Given the description of an element on the screen output the (x, y) to click on. 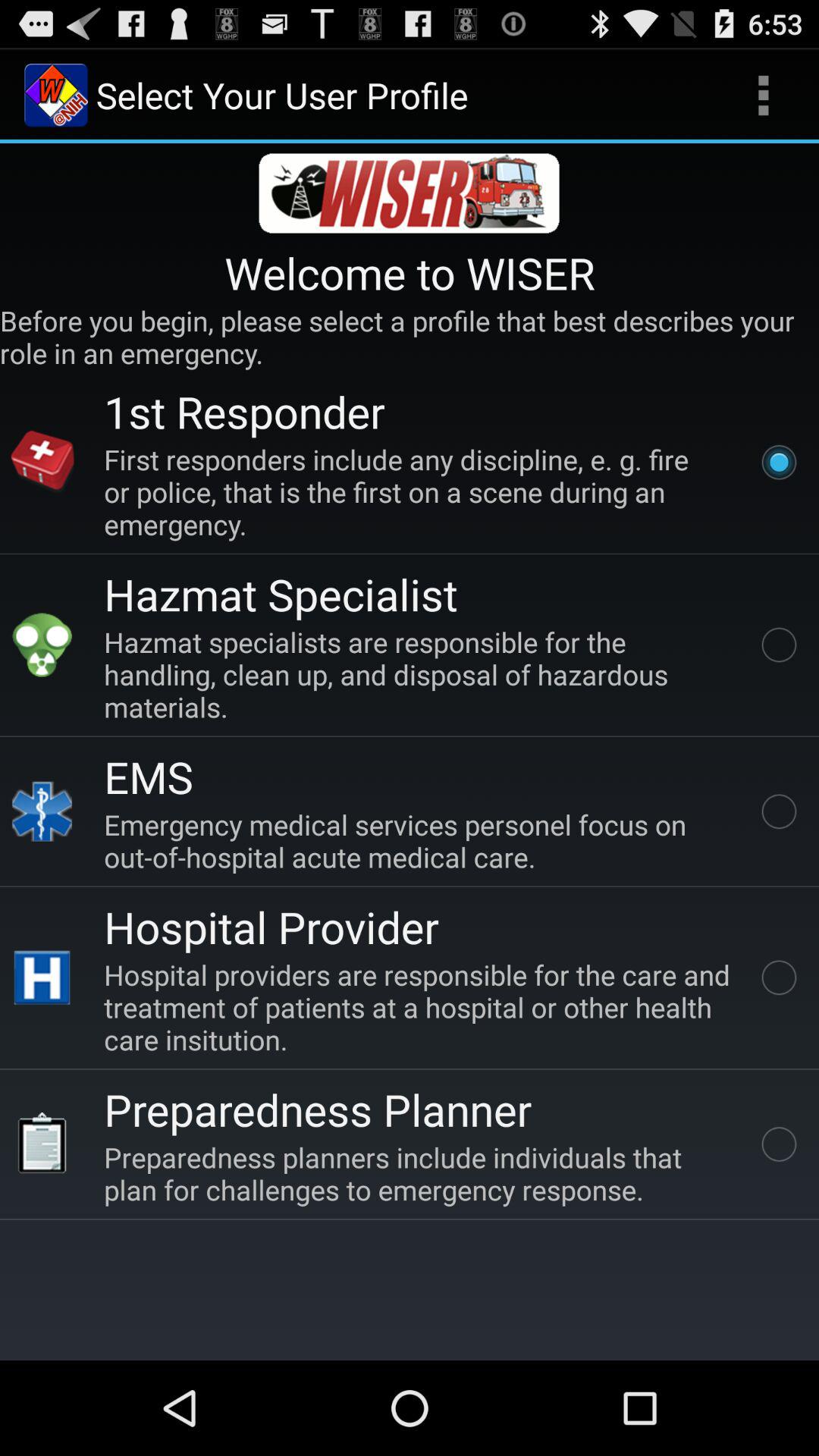
swipe until first responders include app (420, 491)
